Given the description of an element on the screen output the (x, y) to click on. 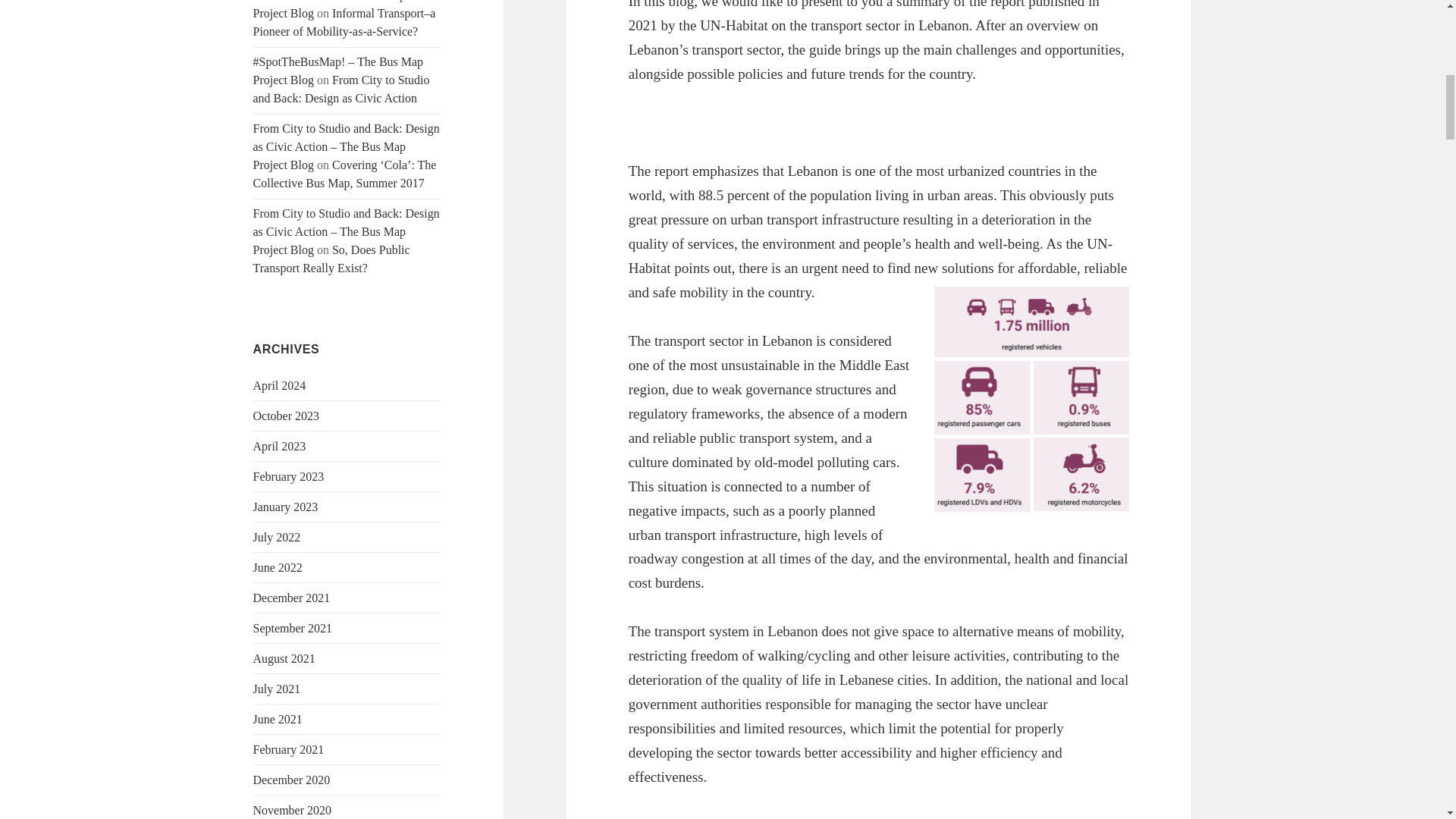
December 2020 (291, 779)
So, Does Public Transport Really Exist? (331, 258)
October 2023 (286, 415)
September 2021 (292, 627)
November 2020 (292, 809)
August 2021 (284, 658)
June 2022 (277, 567)
From City to Studio and Back: Design as Civic Action (341, 88)
February 2021 (288, 748)
December 2021 (291, 597)
July 2022 (277, 536)
July 2021 (277, 688)
January 2023 (285, 506)
April 2024 (279, 385)
February 2023 (288, 476)
